Given the description of an element on the screen output the (x, y) to click on. 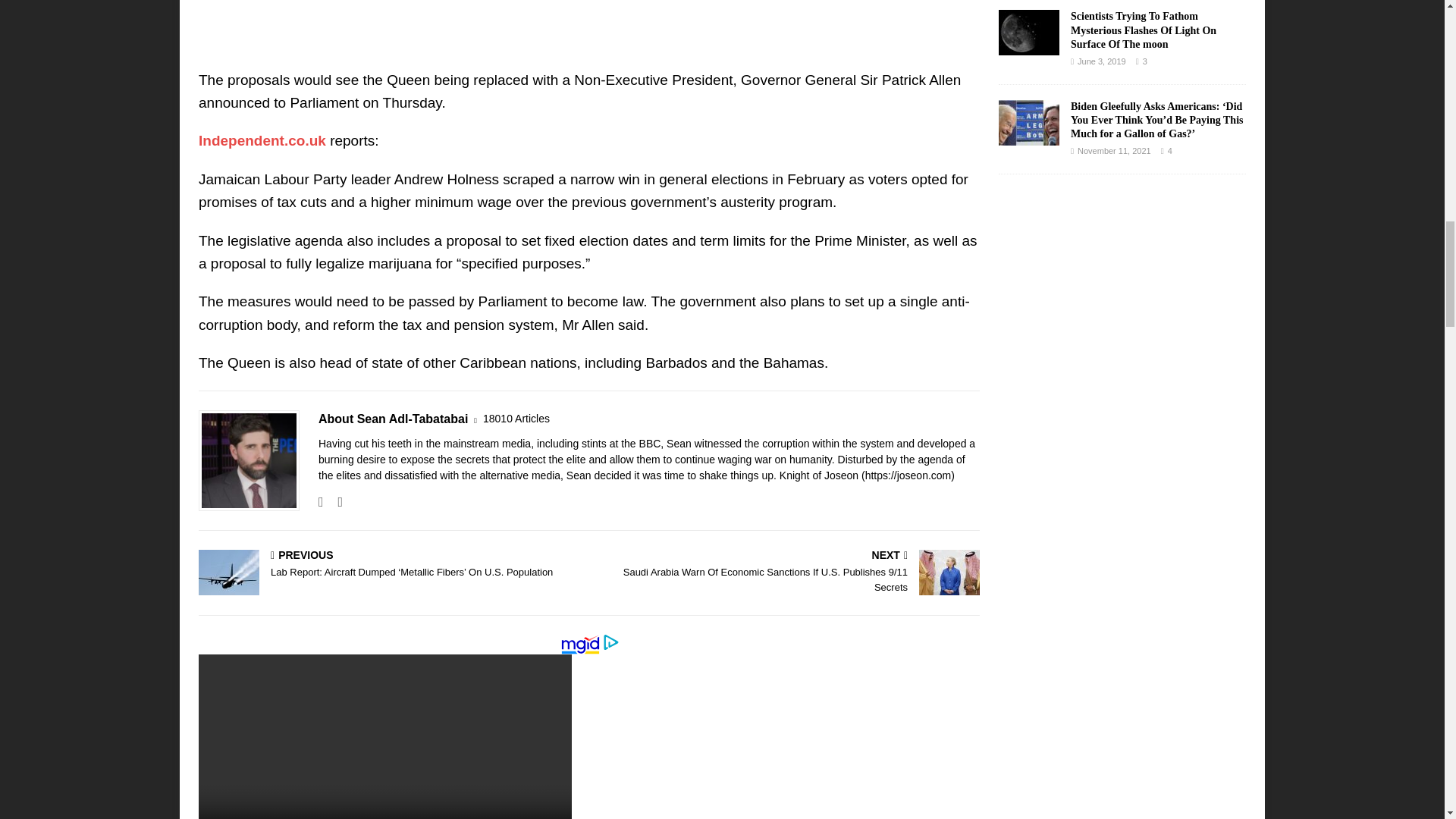
More articles written by Sean Adl-Tabatabai' (516, 418)
Follow Sean Adl-Tabatabai on Twitter (334, 501)
